Given the description of an element on the screen output the (x, y) to click on. 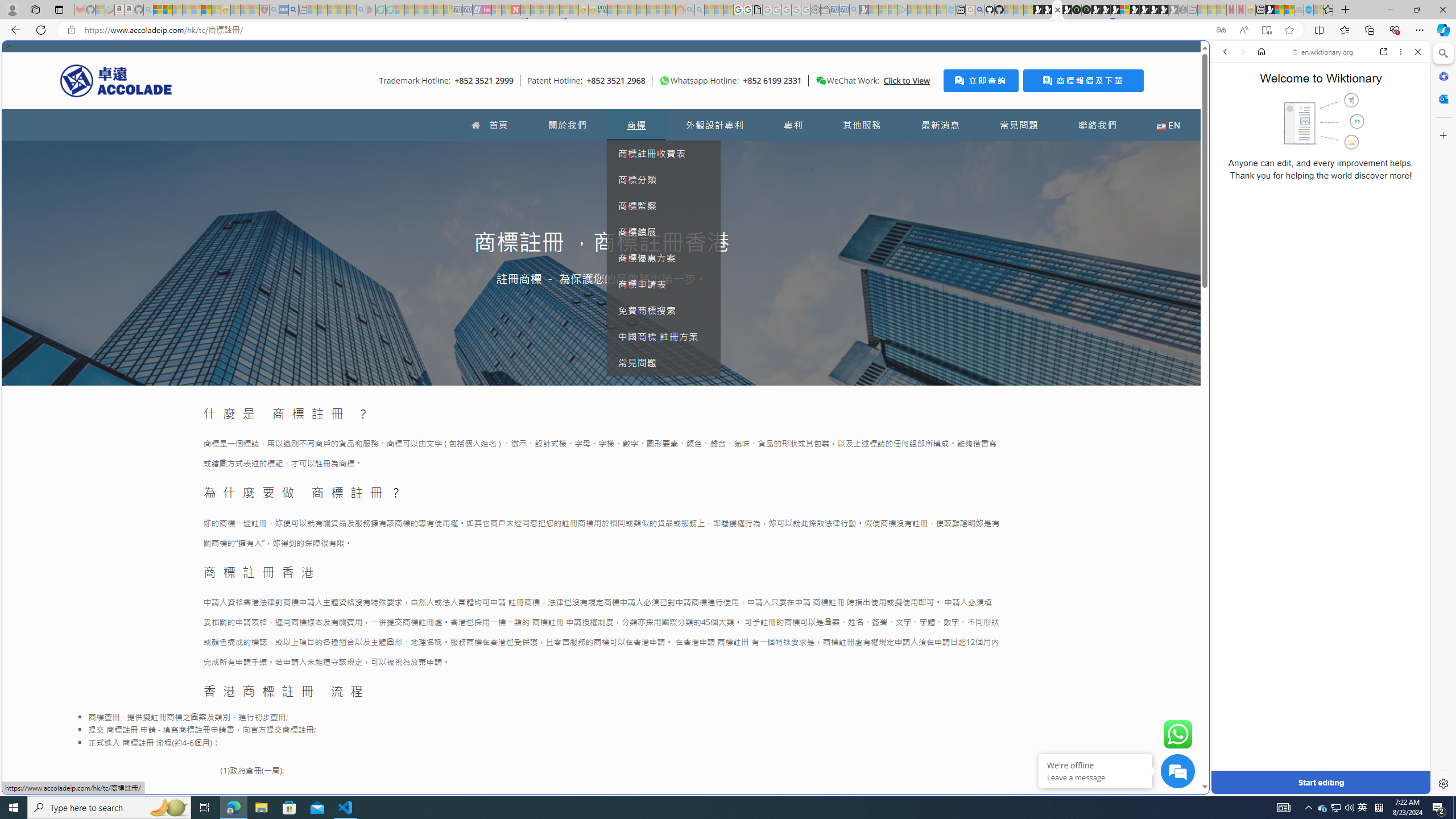
google_privacy_policy_zh-CN.pdf (757, 9)
Close split screen (1208, 57)
Actions for this site (1370, 583)
Home | Sky Blue Bikes - Sky Blue Bikes - Sleeping (950, 9)
Cheap Hotels - Save70.com - Sleeping (467, 9)
Forward (1242, 51)
Robert H. Shmerling, MD - Harvard Health - Sleeping (263, 9)
Play Zoo Boom in your browser | Games from Microsoft Start (1047, 9)
